Given the description of an element on the screen output the (x, y) to click on. 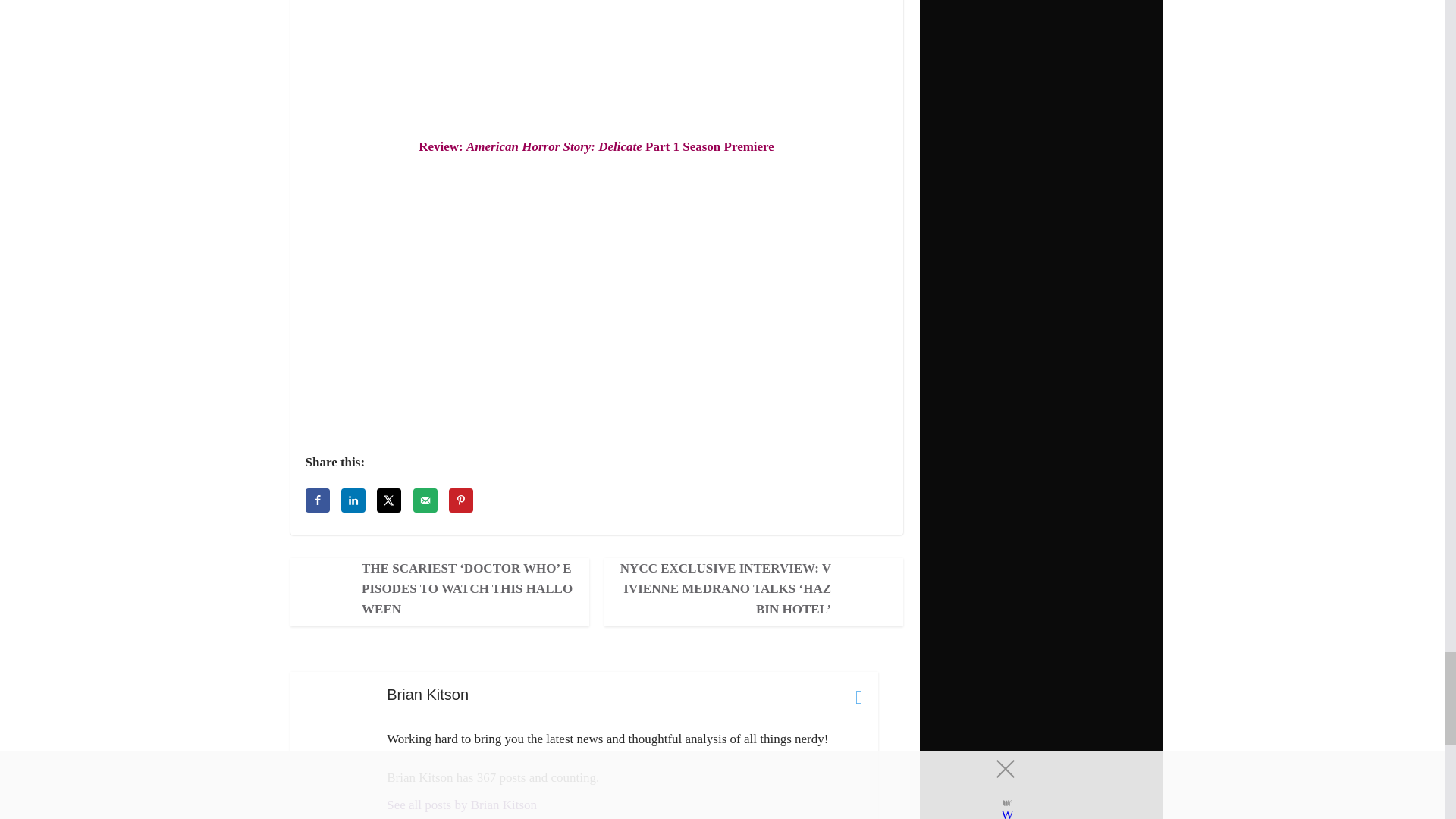
Share on X (389, 500)
Share on LinkedIn (352, 500)
Share on Facebook (316, 500)
Send over email (425, 500)
